Given the description of an element on the screen output the (x, y) to click on. 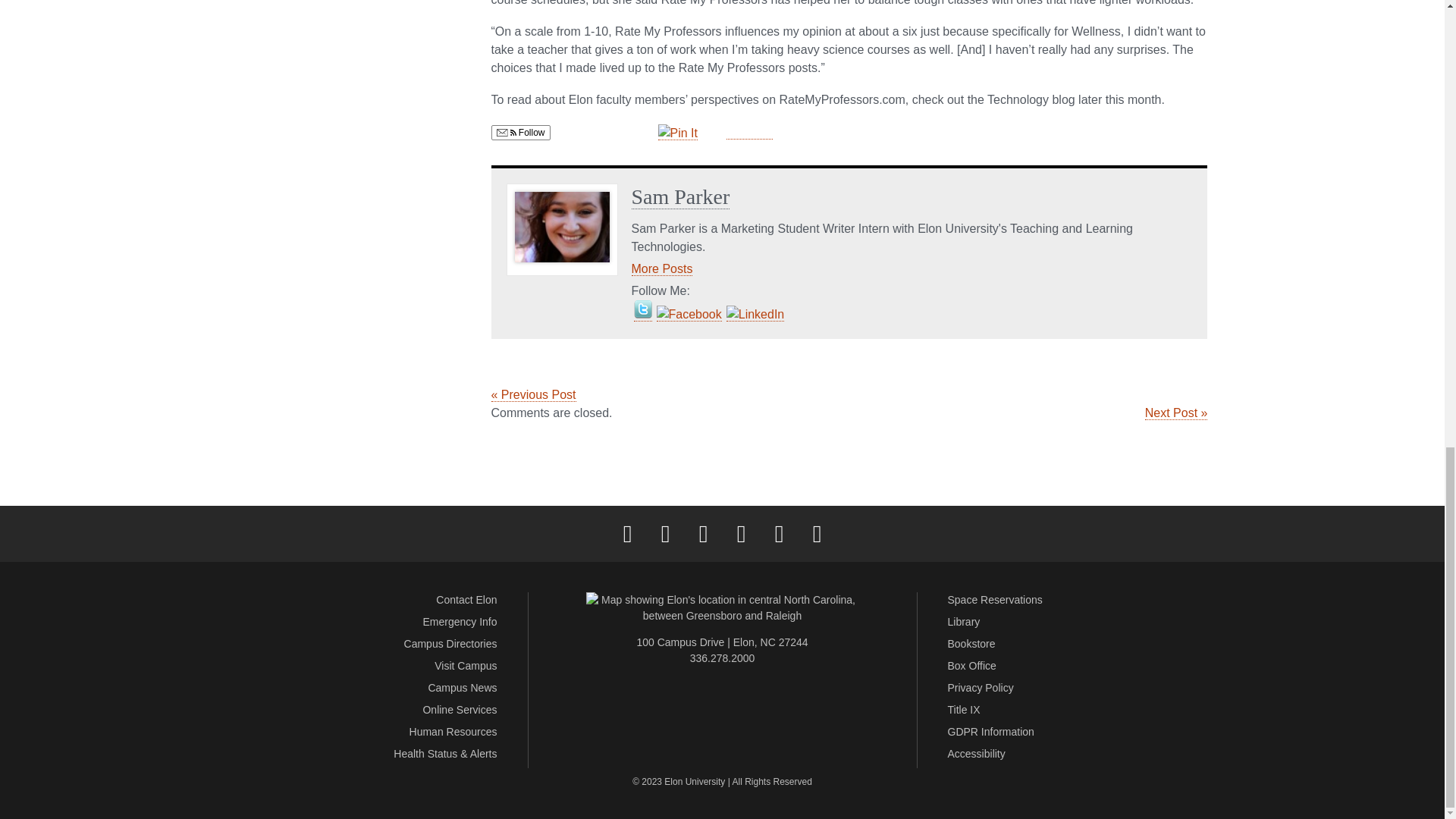
Sam Parker (679, 197)
LinkedIn (741, 533)
Email, RSS (505, 133)
Sam Parker (679, 197)
Full Social Media List (816, 533)
Instagram (703, 533)
Follow (521, 132)
Twitter (665, 533)
Facebook (627, 533)
More posts by Sam Parker (661, 269)
YouTube (778, 533)
More Posts (661, 269)
Share on Tumblr (749, 131)
Share on Tumblr (749, 131)
